Given the description of an element on the screen output the (x, y) to click on. 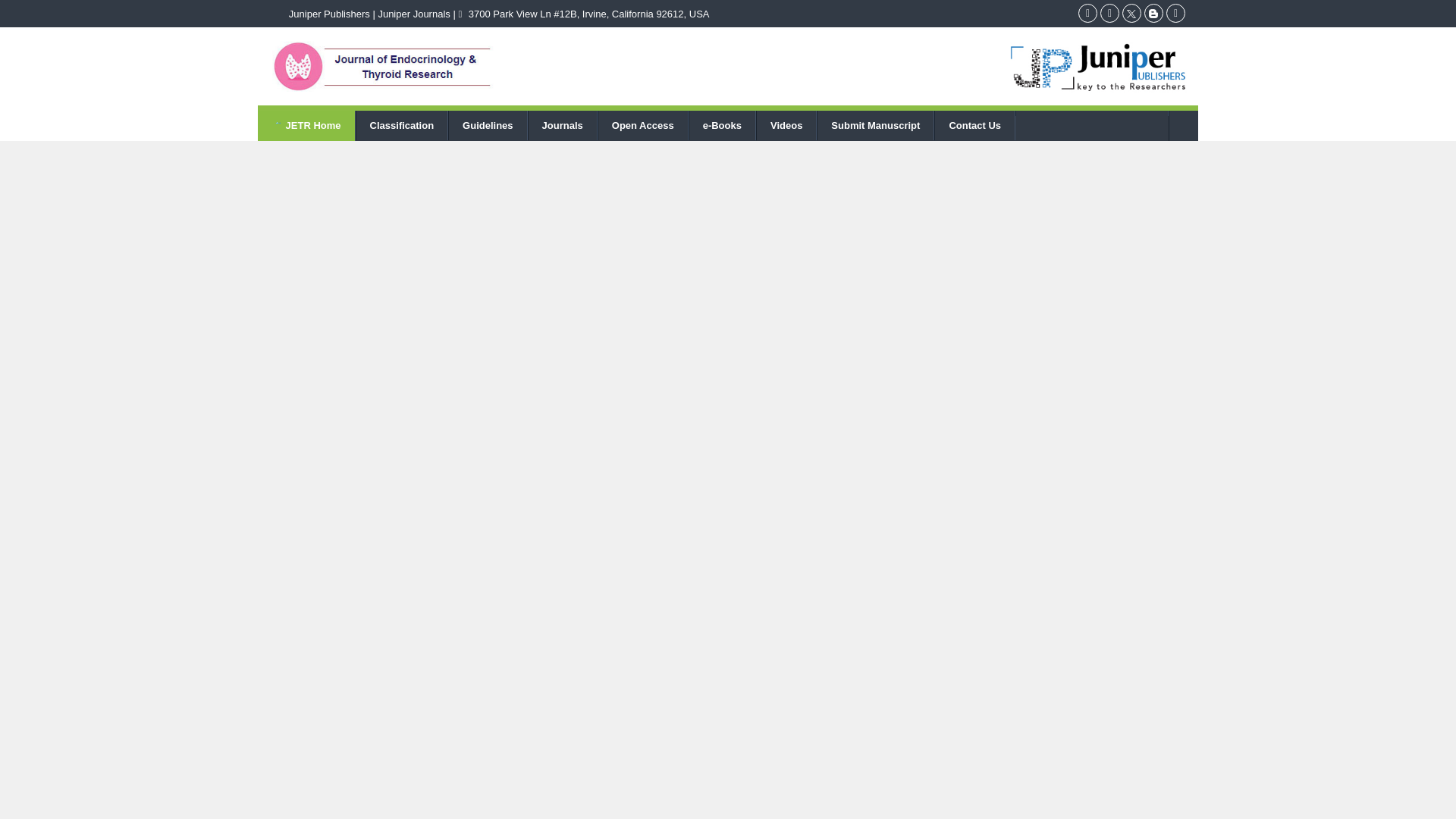
Juniper Publishers (328, 13)
e-Books (721, 125)
Videos (786, 125)
Submit Manuscript (874, 125)
Classification (402, 125)
Contact Us (974, 125)
Open Access (642, 125)
Journals (562, 125)
Guidelines (486, 125)
Juniper Journals (413, 13)
